Given the description of an element on the screen output the (x, y) to click on. 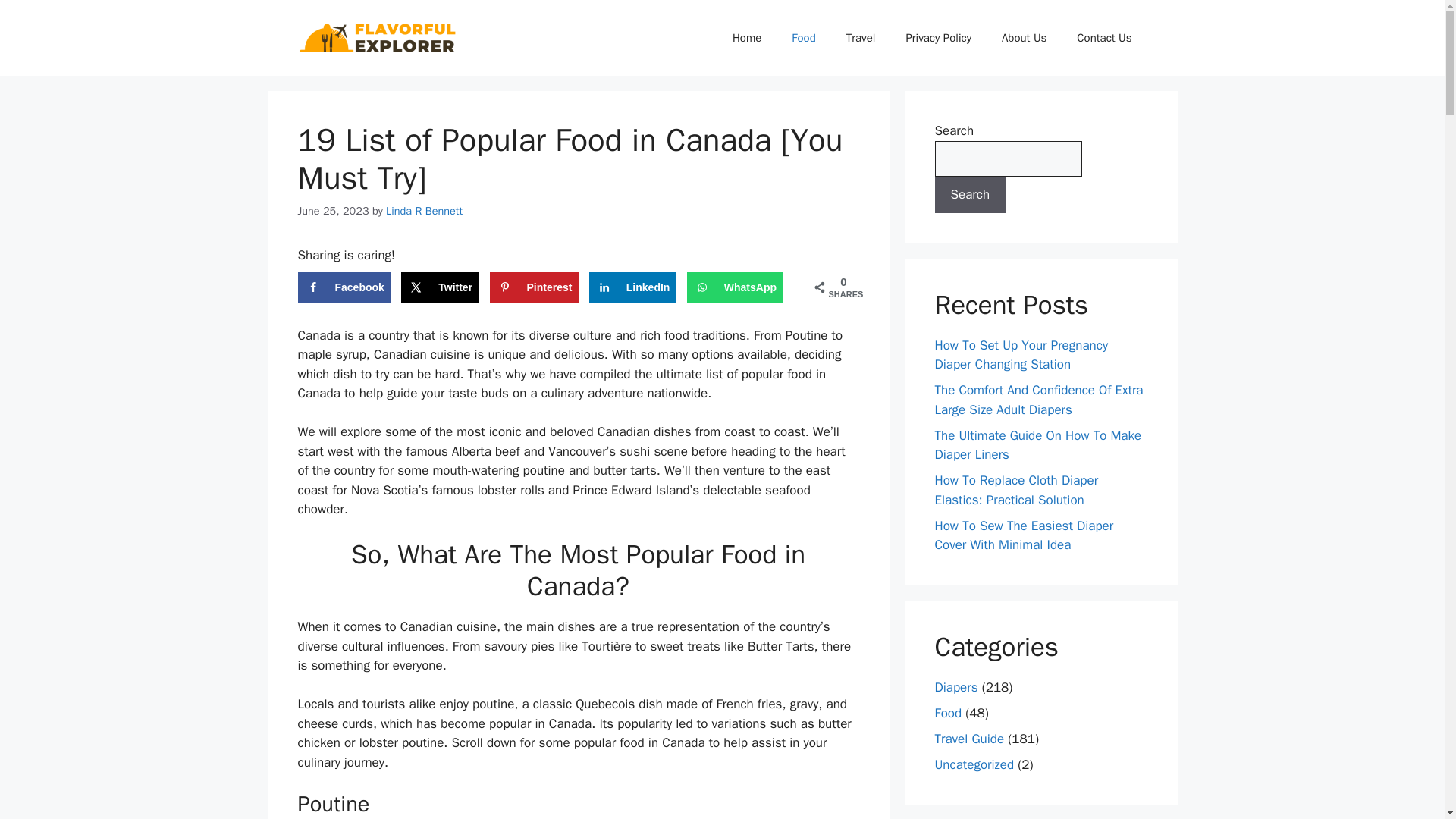
Share on WhatsApp (735, 286)
The Ultimate Guide On How To Make Diaper Liners (1037, 445)
Search (970, 194)
Share on X (440, 286)
Travel (861, 37)
Share on LinkedIn (633, 286)
How To Set Up Your Pregnancy Diaper Changing Station (1021, 354)
Share on Facebook (343, 286)
Pinterest (534, 286)
LinkedIn (633, 286)
Save to Pinterest (534, 286)
Facebook (343, 286)
WhatsApp (735, 286)
Food (802, 37)
Twitter (440, 286)
